Given the description of an element on the screen output the (x, y) to click on. 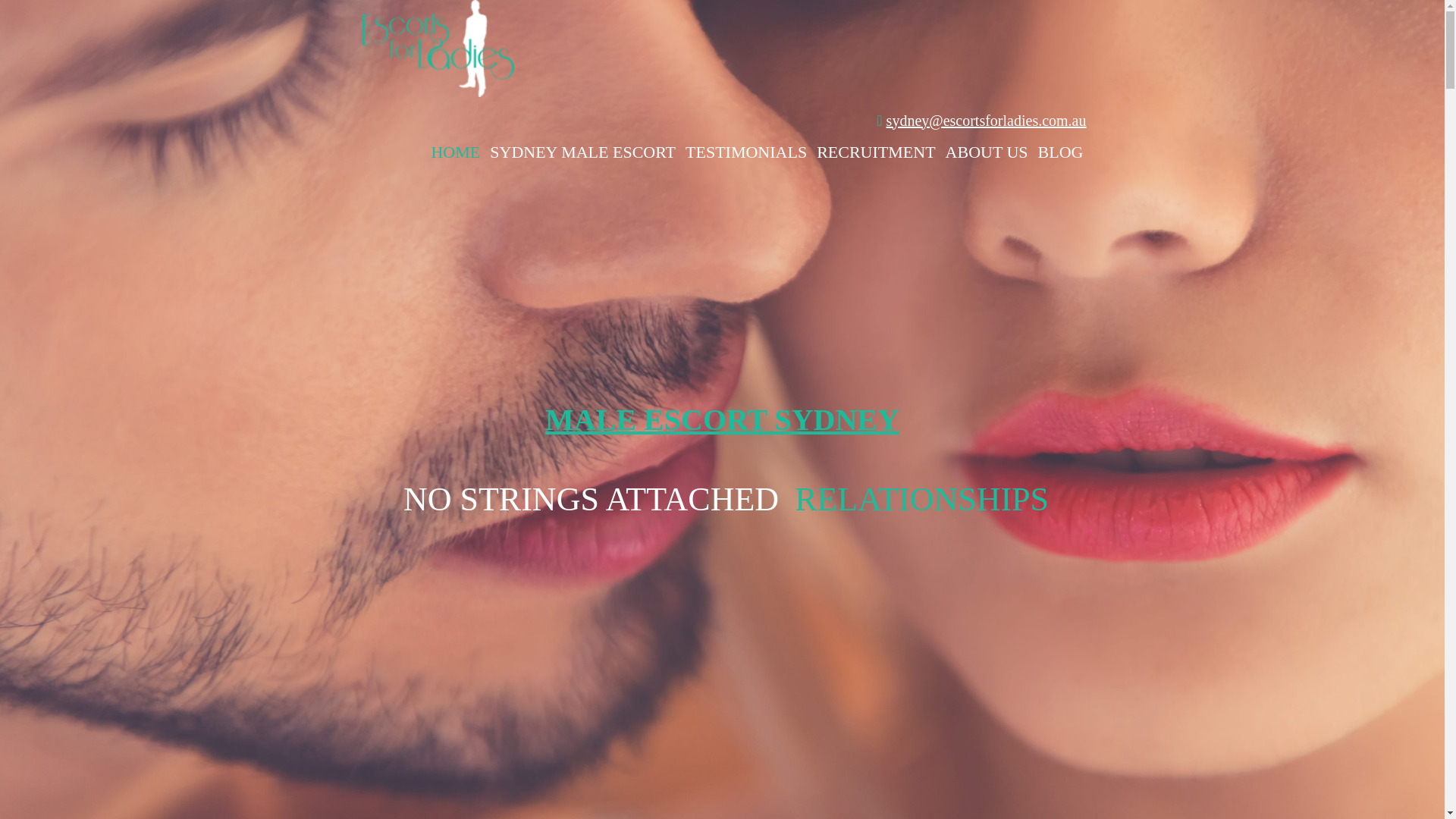
MALE ESCORT SYDNEY Element type: text (722, 419)
TESTIMONIALS Element type: text (745, 151)
BLOG Element type: text (1060, 151)
RECRUITMENT Element type: text (875, 151)
HOME Element type: text (455, 151)
ABOUT US Element type: text (986, 151)
SYDNEY MALE ESCORT Element type: text (582, 151)
sydney@escortsforladies.com.au Element type: text (986, 120)
